Given the description of an element on the screen output the (x, y) to click on. 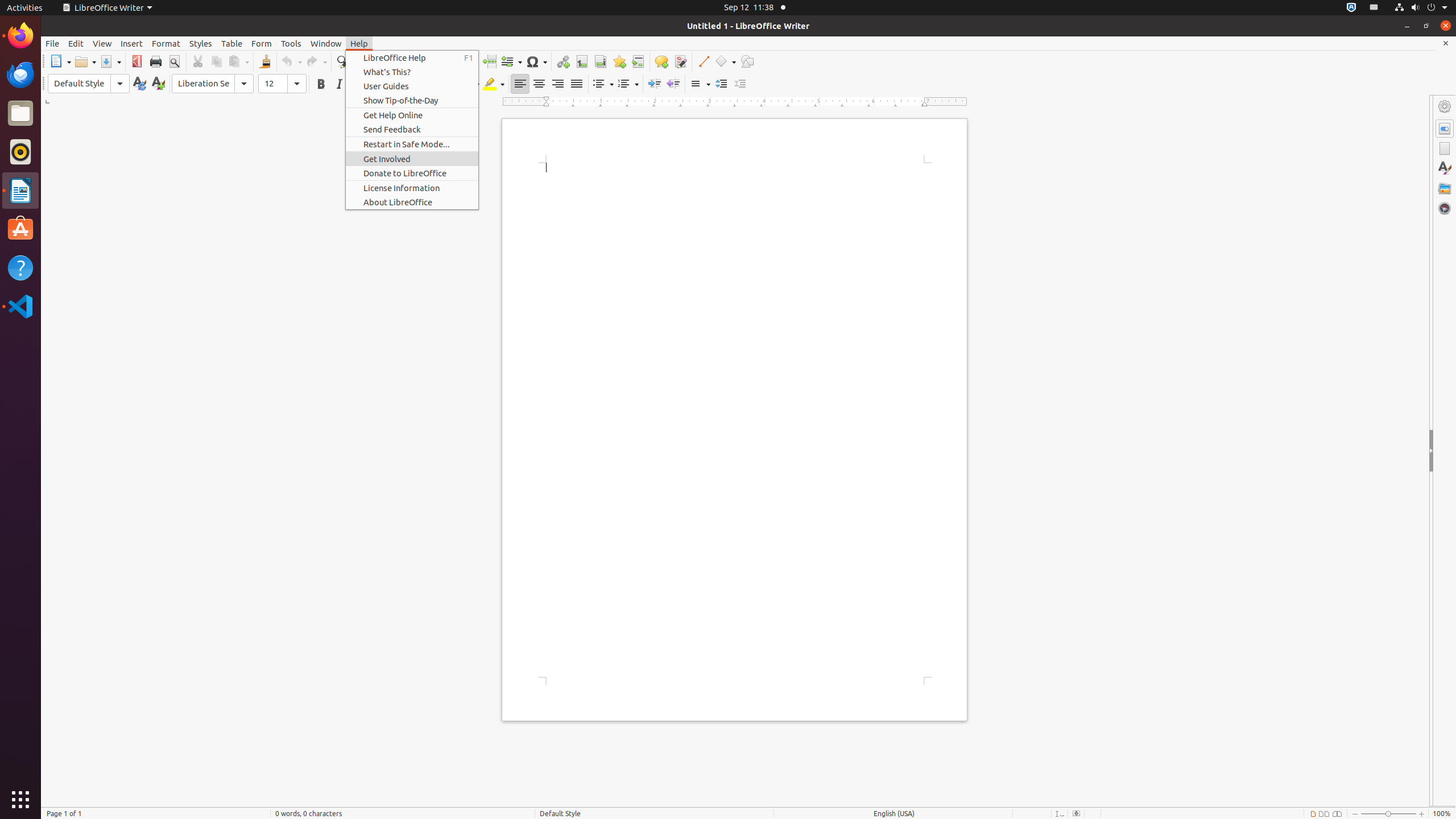
LibreOffice Help Element type: menu-item (411, 57)
Draw Functions Element type: push-button (746, 61)
Font Size Element type: combo-box (282, 83)
Visual Studio Code Element type: push-button (20, 306)
:1.72/StatusNotifierItem Element type: menu (1350, 7)
